Given the description of an element on the screen output the (x, y) to click on. 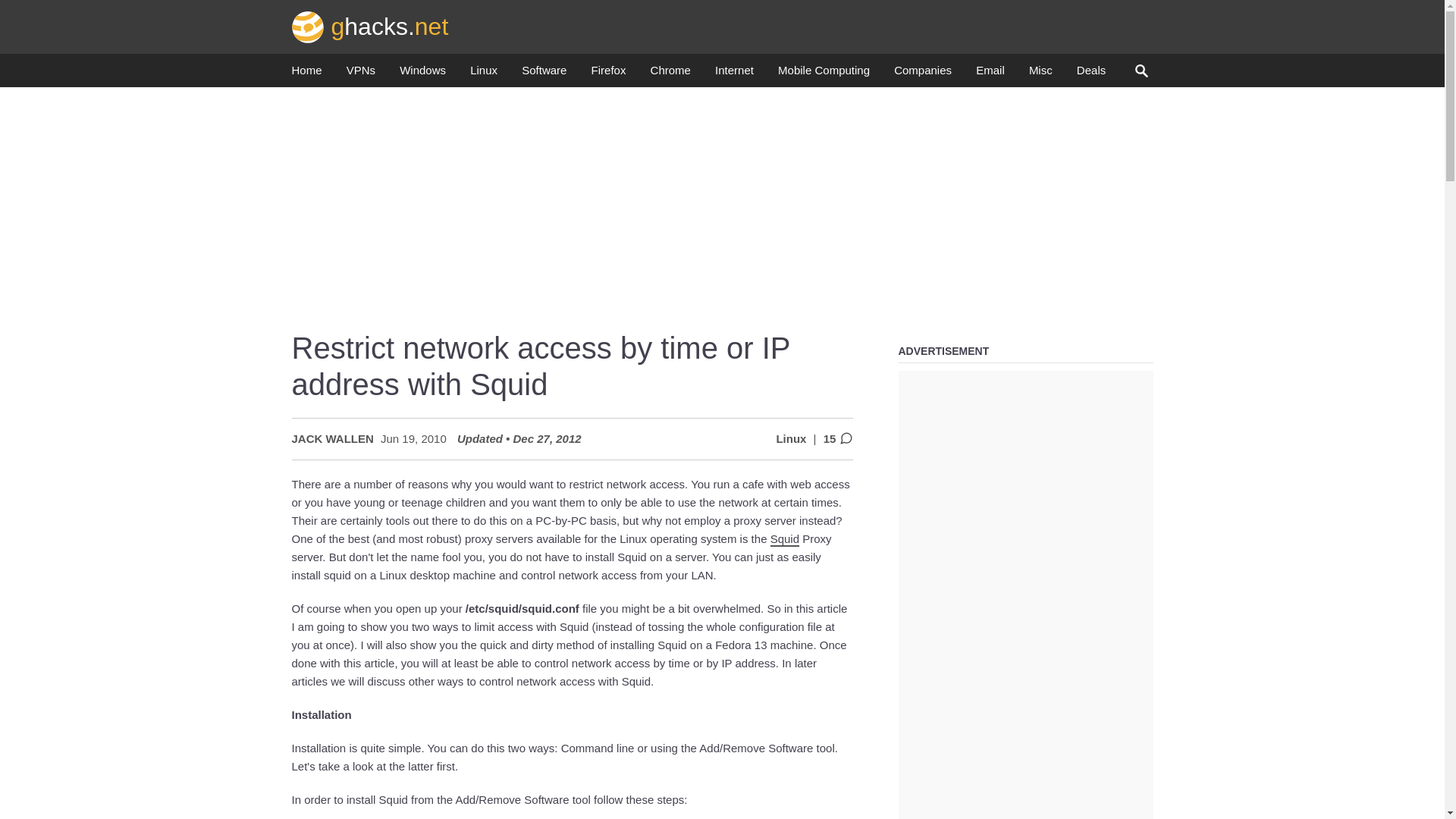
Email (989, 73)
Deals (1091, 73)
Companies (922, 73)
Mobile Computing (823, 73)
Software (543, 73)
Misc (1040, 73)
ghacks.net (369, 26)
VPNs (360, 73)
Windows (421, 73)
Chrome (670, 73)
Firefox (608, 73)
Linux (483, 73)
Squid (784, 539)
Internet (734, 73)
Home (306, 73)
